Given the description of an element on the screen output the (x, y) to click on. 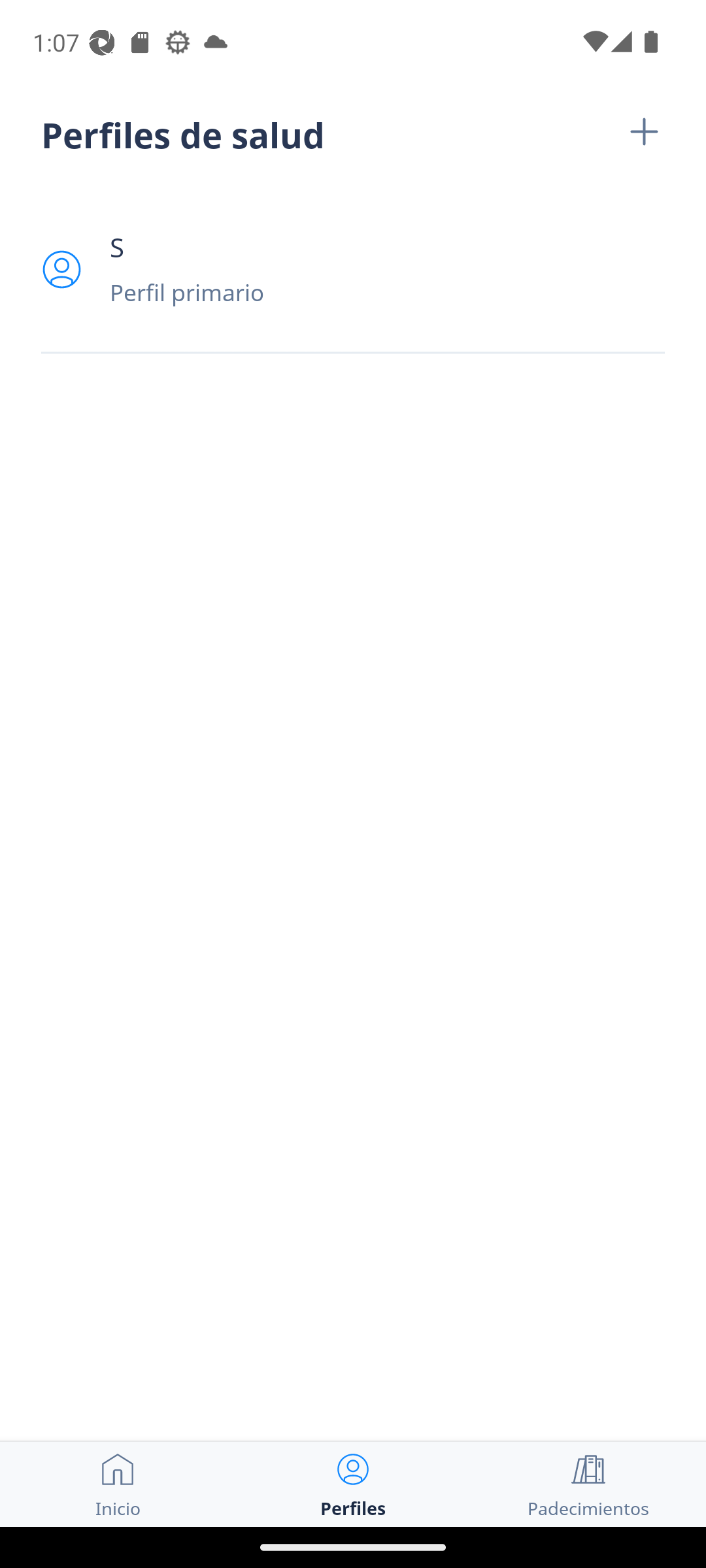
S Perfil primario (352, 269)
Inicio (117, 1484)
Perfiles (352, 1484)
Padecimientos (588, 1484)
